Given the description of an element on the screen output the (x, y) to click on. 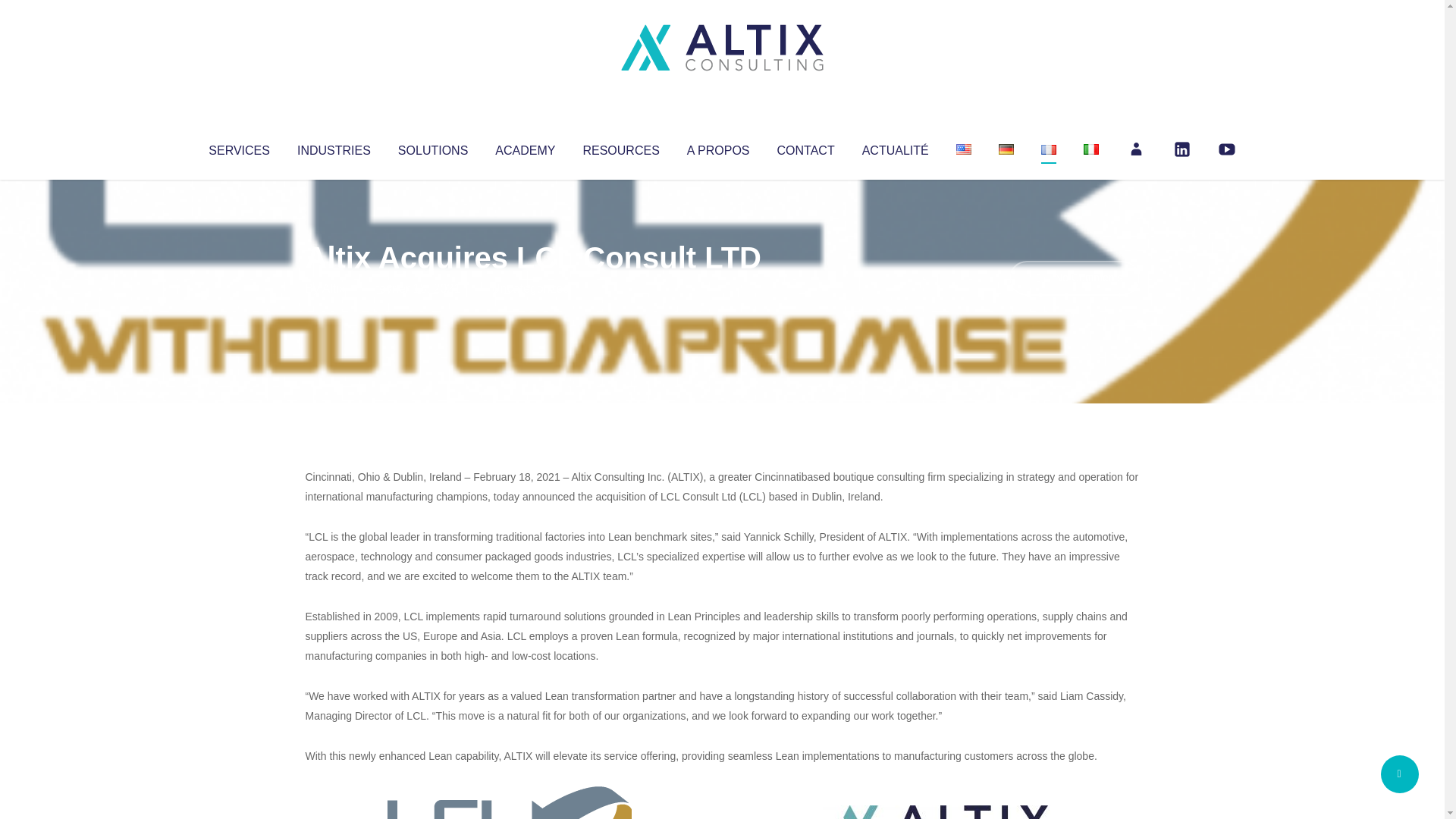
Altix (333, 287)
Articles par Altix (333, 287)
INDUSTRIES (334, 146)
A PROPOS (718, 146)
No Comments (1073, 278)
RESOURCES (620, 146)
SERVICES (238, 146)
SOLUTIONS (432, 146)
Uncategorized (530, 287)
ACADEMY (524, 146)
